Given the description of an element on the screen output the (x, y) to click on. 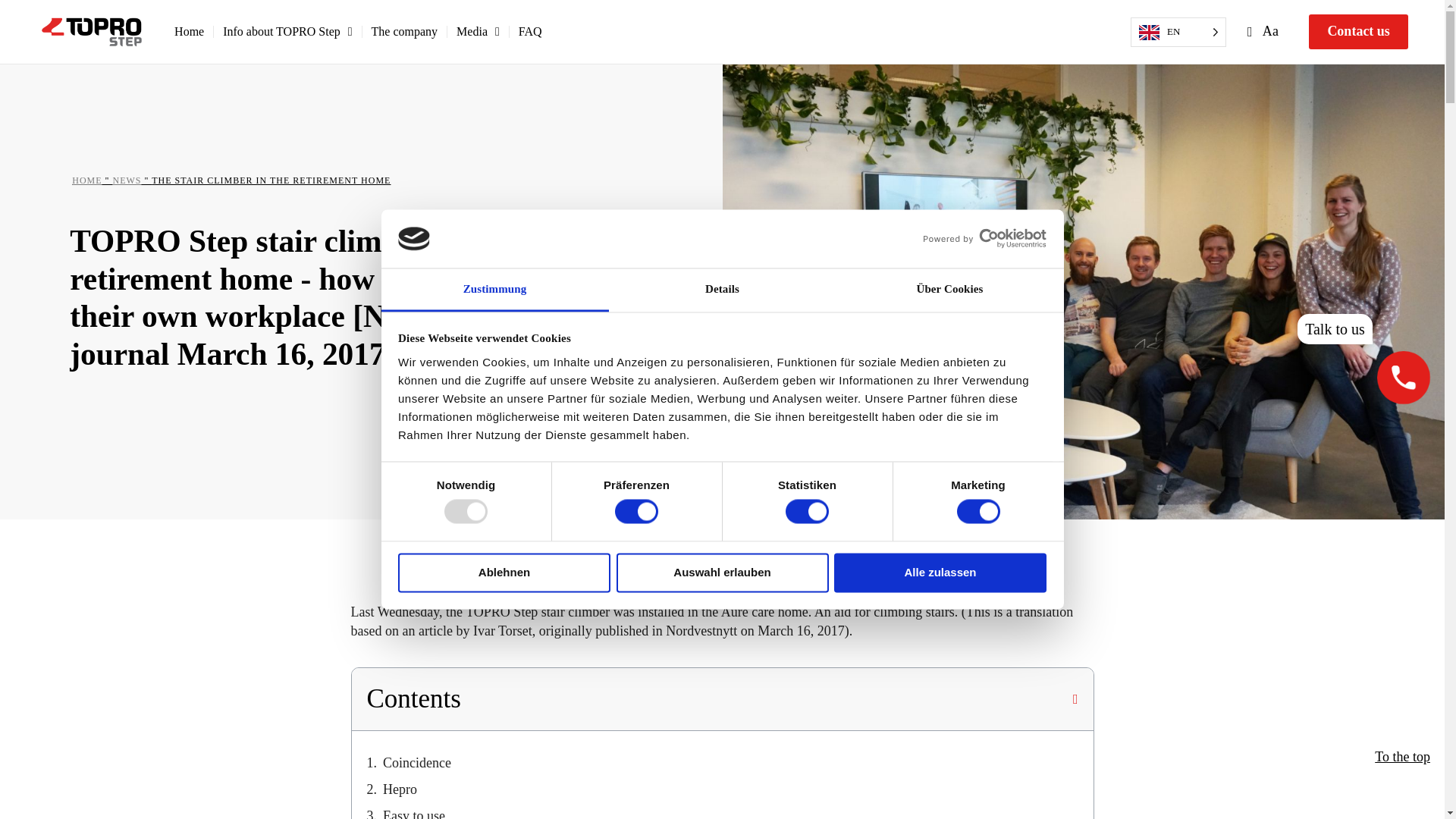
Zustimmung (494, 290)
Details (721, 290)
